Given the description of an element on the screen output the (x, y) to click on. 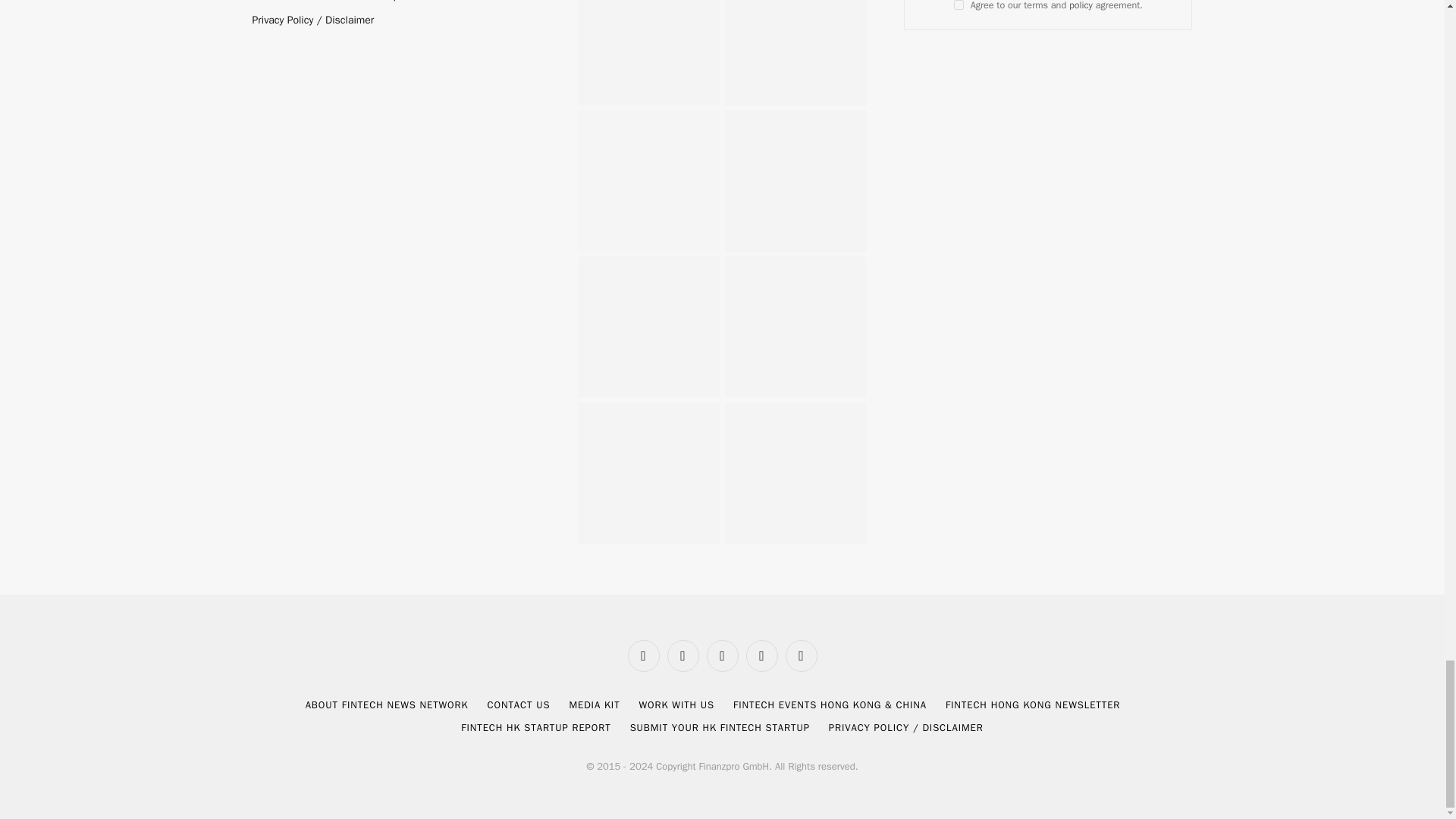
on (958, 4)
